Given the description of an element on the screen output the (x, y) to click on. 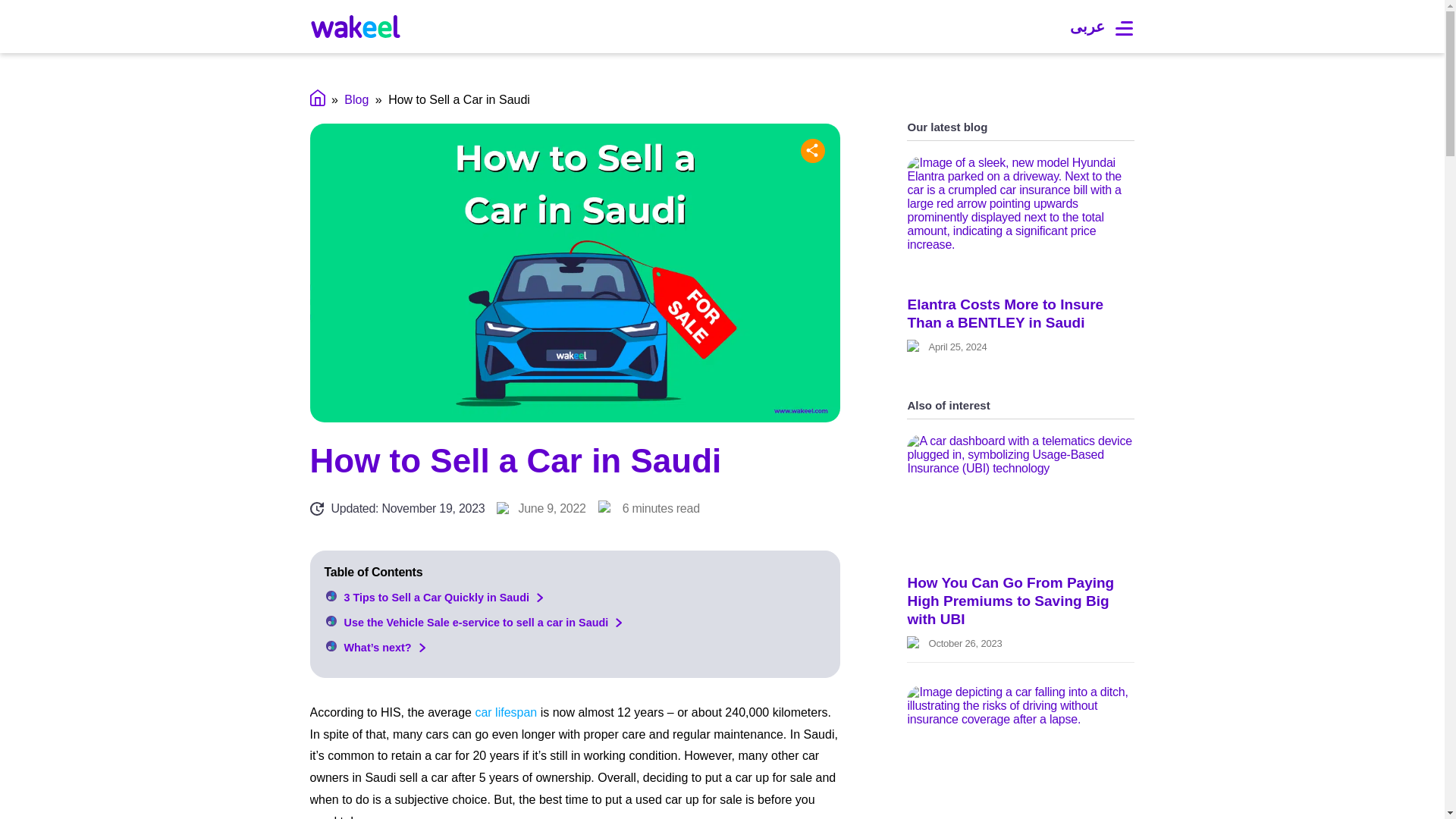
Blog (355, 99)
3 Tips to Sell a Car Quickly in Saudi (428, 597)
Elantra Costs More to Insure Than a BENTLEY in Saudi (1005, 313)
Use the Vehicle Sale e-service to sell a car in Saudi (467, 622)
Elantra Costs More to Insure Than a BENTLEY in Saudi (1020, 220)
Before you decide not to renew your car insurance (1020, 749)
Elantra Costs More to Insure Than a BENTLEY in Saudi (1005, 313)
car lifespan (507, 712)
